Given the description of an element on the screen output the (x, y) to click on. 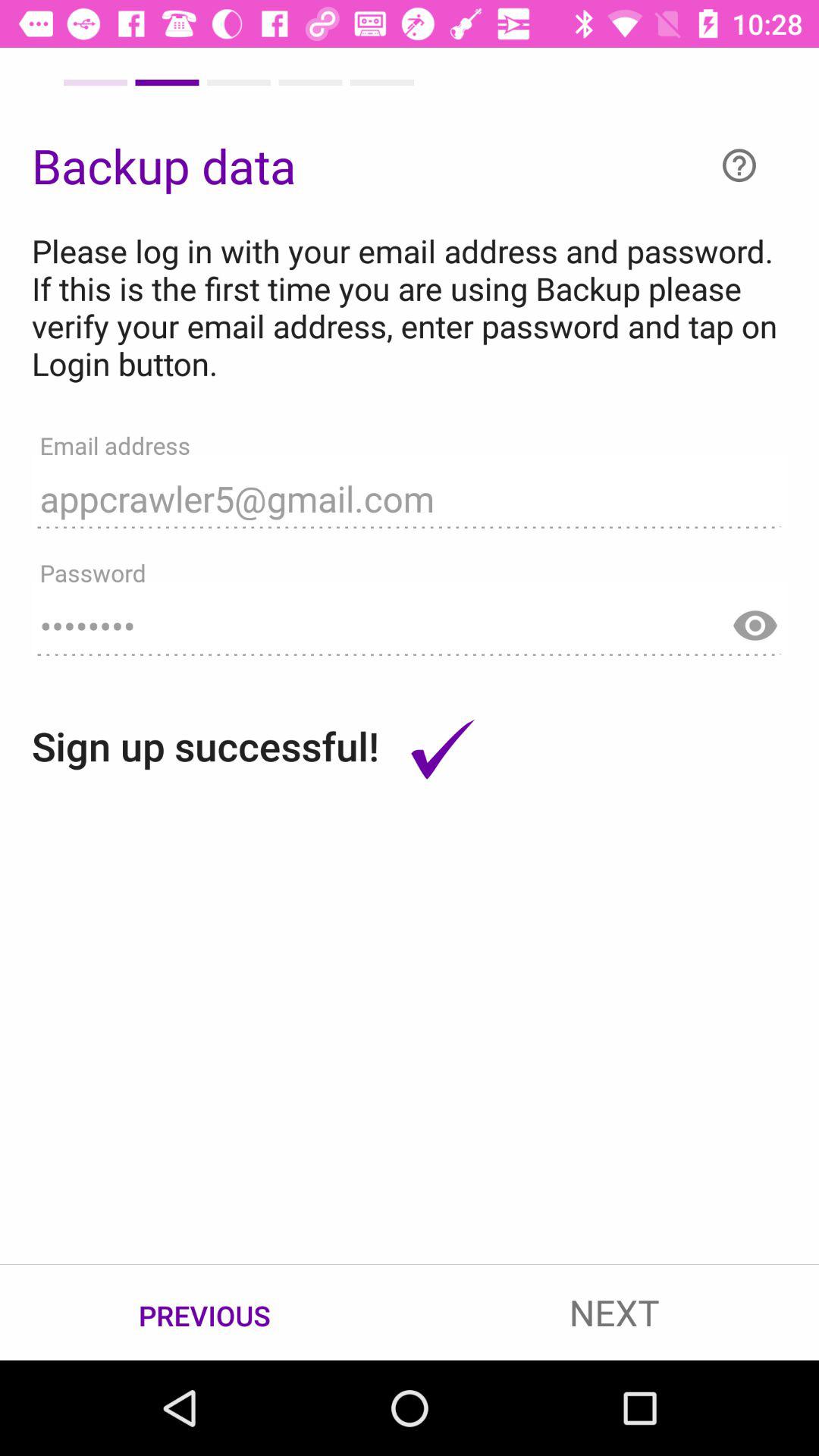
scroll until the appcrawler5@gmail.com (409, 491)
